Given the description of an element on the screen output the (x, y) to click on. 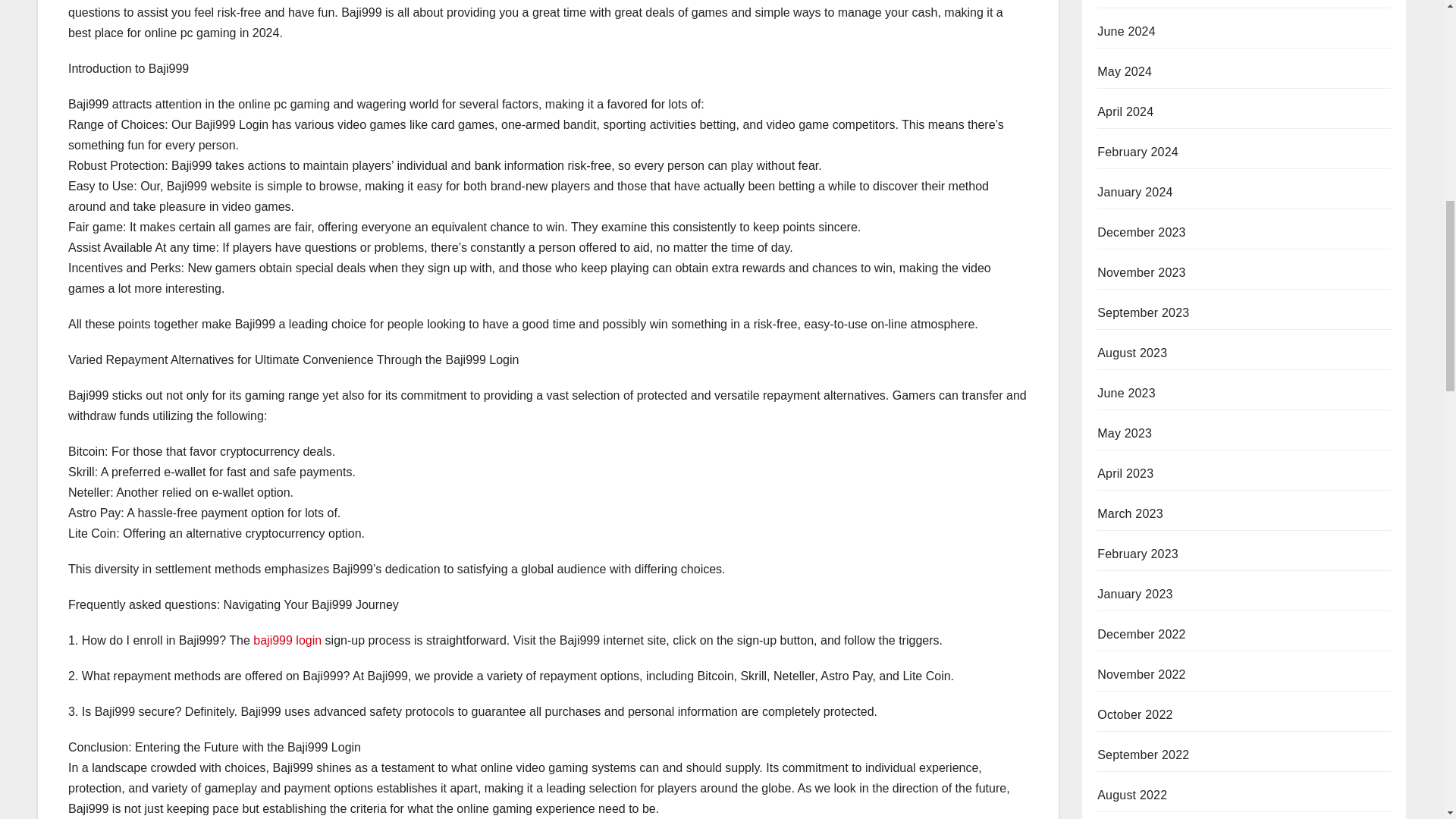
baji999 login (287, 640)
